Given the description of an element on the screen output the (x, y) to click on. 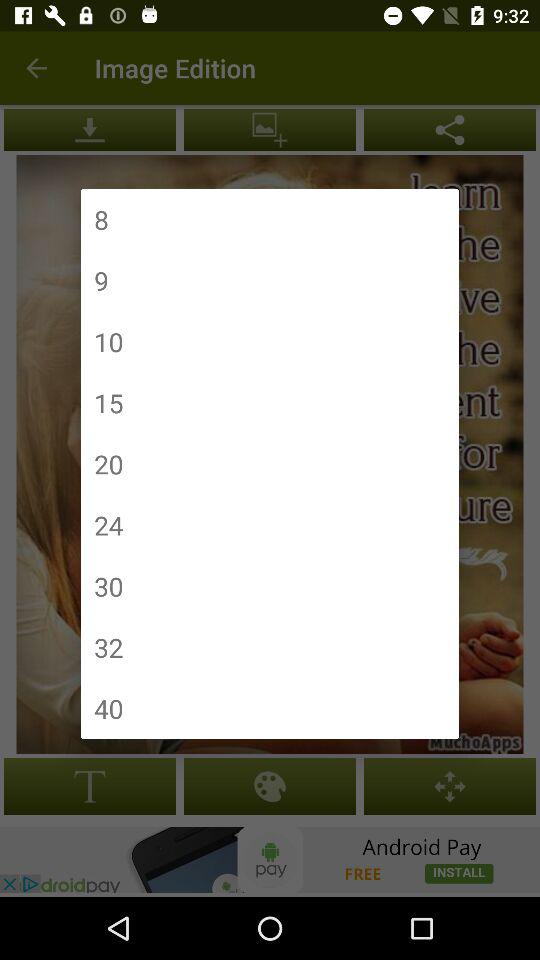
turn off the 20 icon (108, 463)
